Given the description of an element on the screen output the (x, y) to click on. 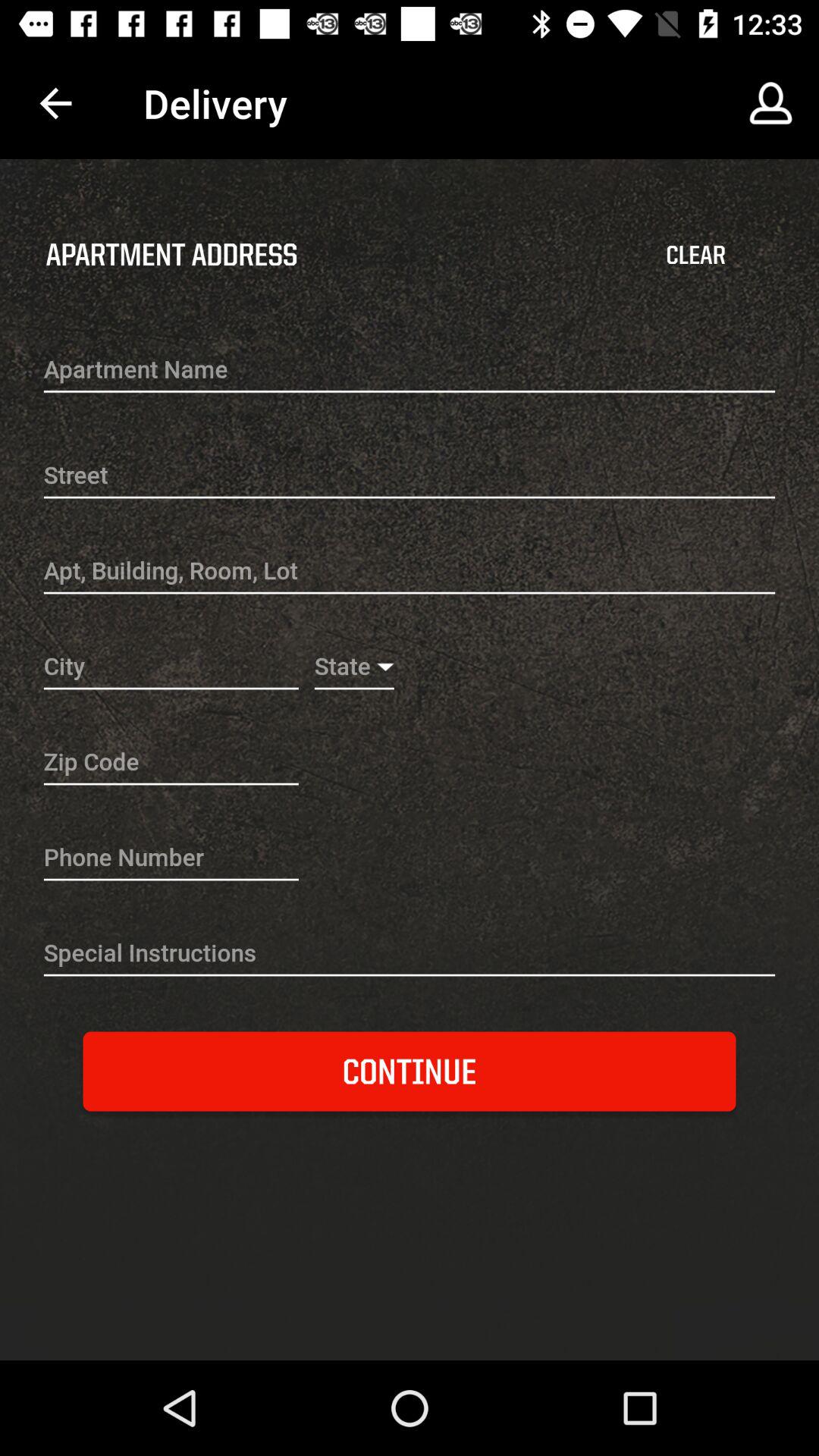
jump until the clear icon (695, 254)
